Given the description of an element on the screen output the (x, y) to click on. 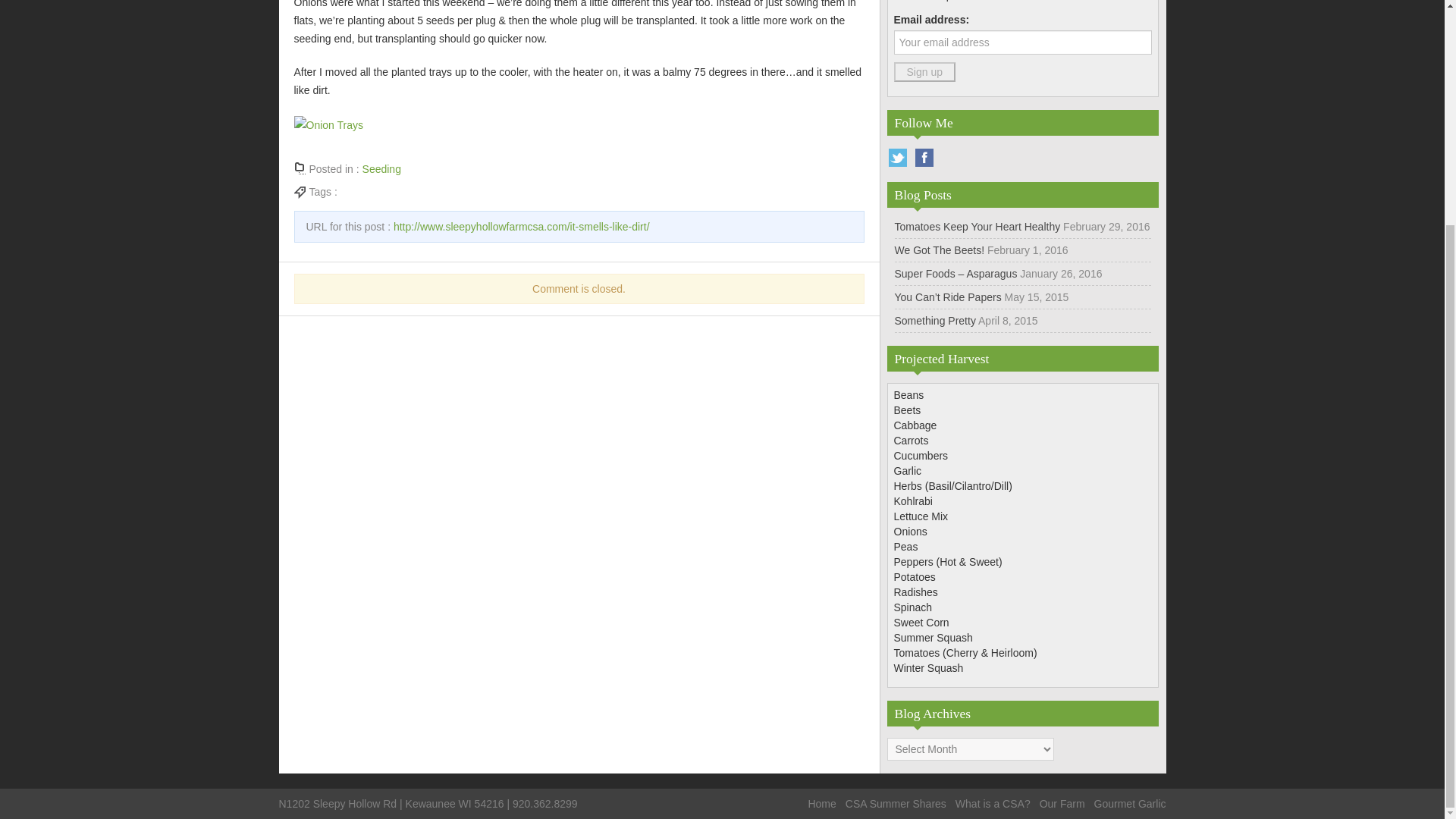
CSA Summer Shares (895, 803)
We Got The Beets! (940, 250)
Sign up (924, 71)
Home (821, 803)
Gourmet Garlic (1130, 803)
Seeding (381, 168)
Sign up (924, 71)
Something Pretty (935, 320)
Our Farm (1061, 803)
Tomatoes Keep Your Heart Healthy (978, 226)
